Given the description of an element on the screen output the (x, y) to click on. 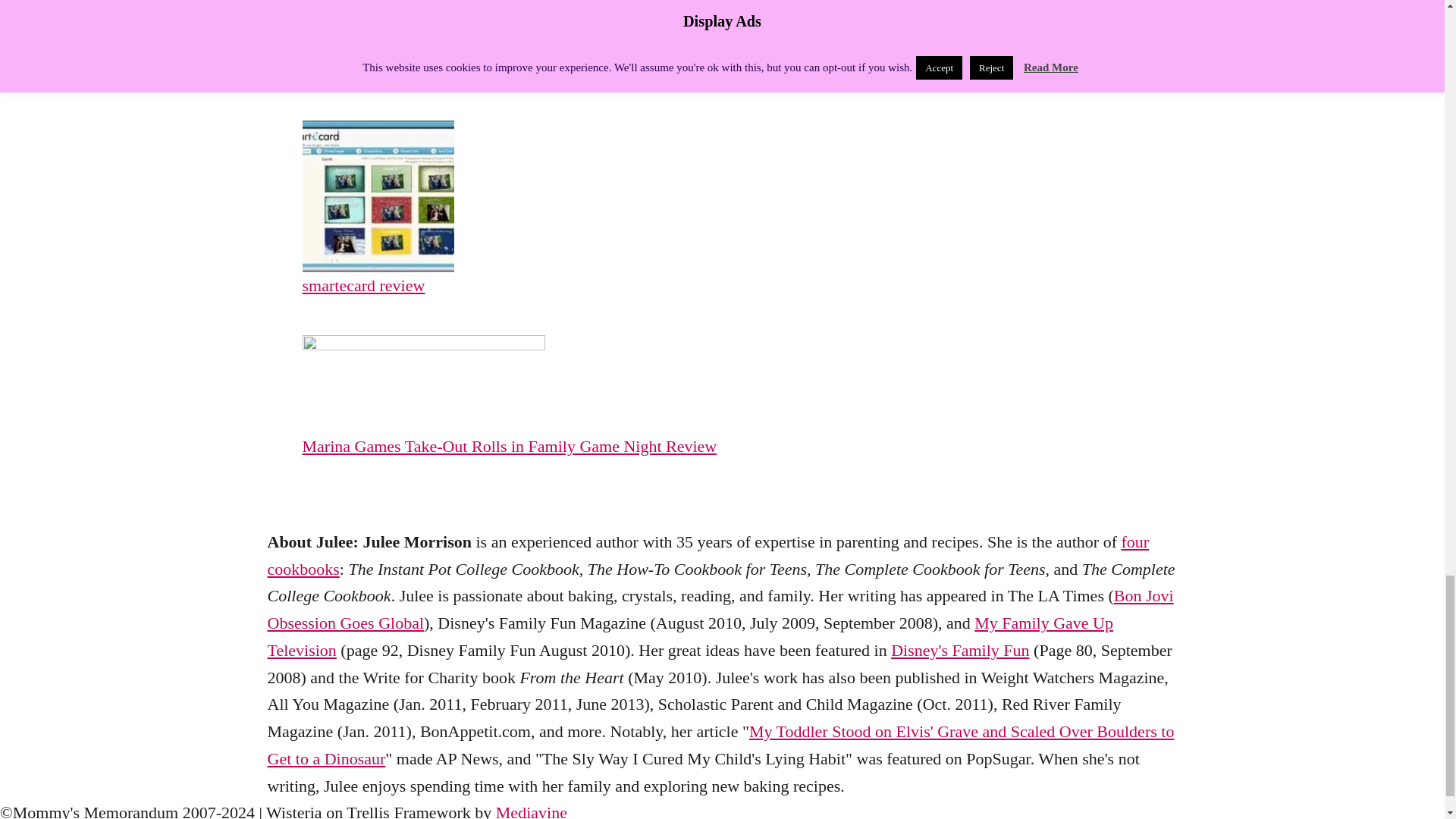
My Family Gave Up Television (689, 636)
four cookbooks (707, 555)
Bon Jovi Obsession Goes Global (719, 609)
Review (384, 47)
Disney's Family Fun (960, 650)
smartecard review (577, 285)
Home (321, 47)
Marina Games Take-Out Rolls in Family Game Night Review (577, 446)
